Given the description of an element on the screen output the (x, y) to click on. 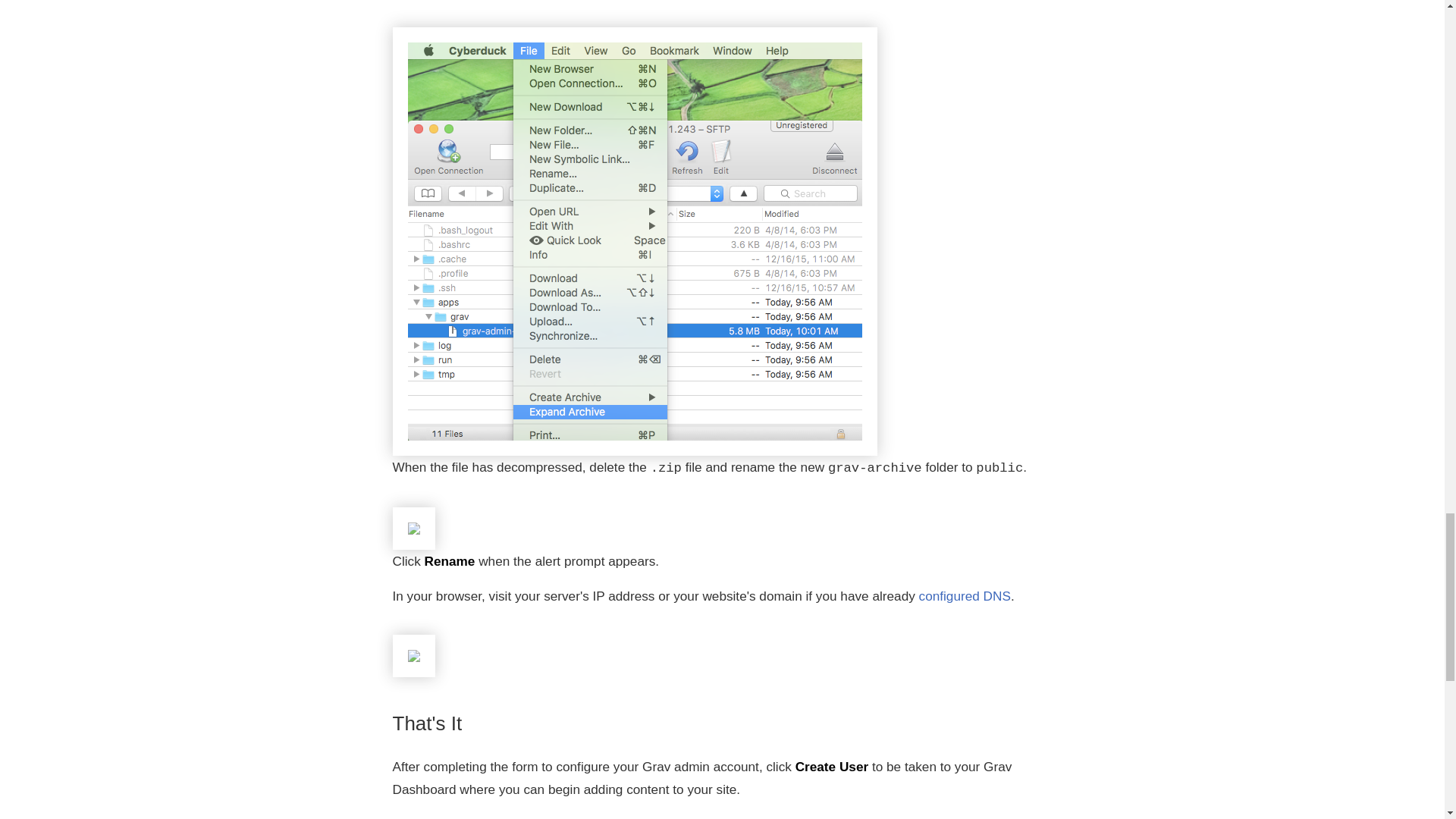
configured DNS (964, 595)
